Given the description of an element on the screen output the (x, y) to click on. 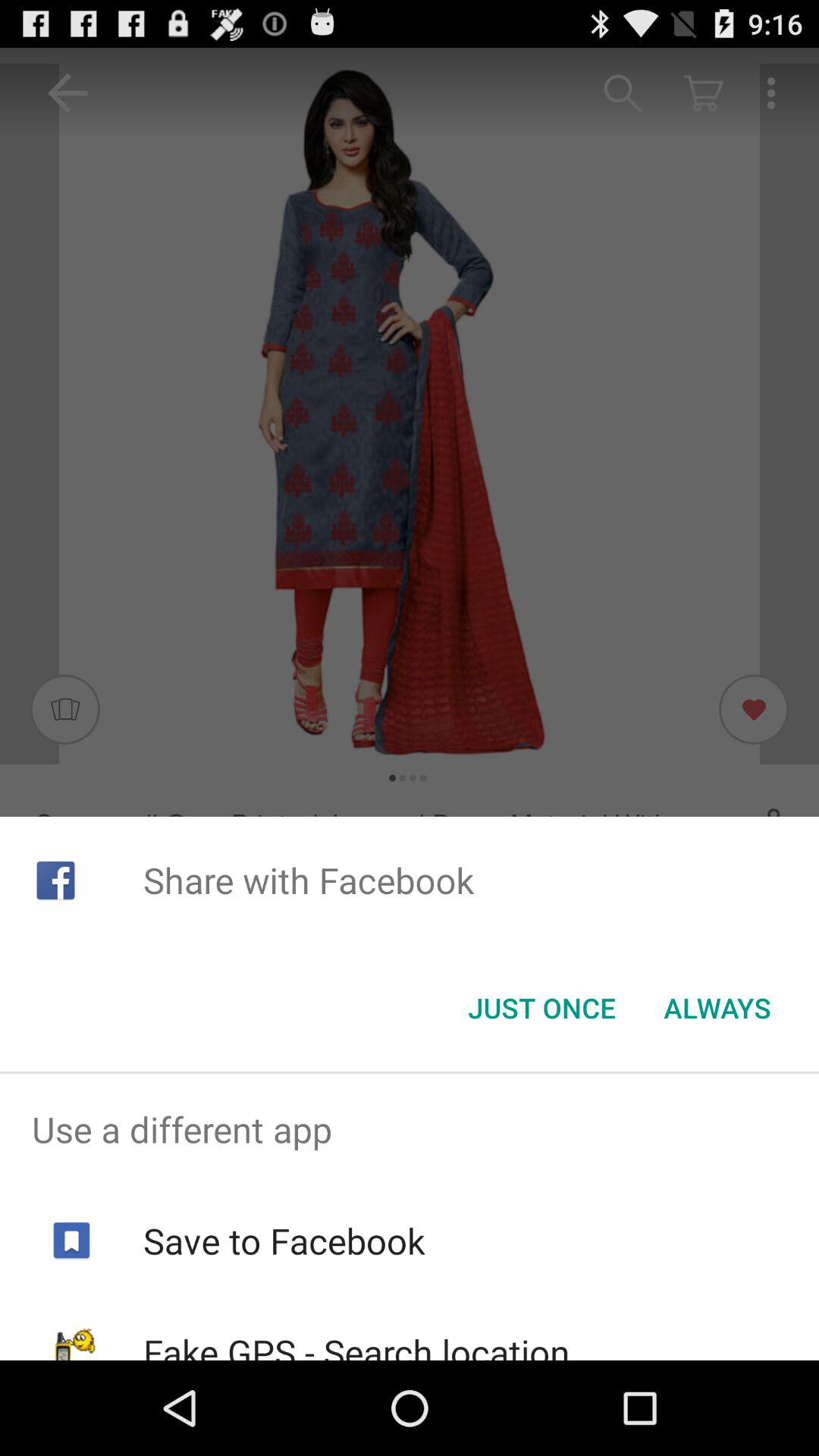
press the button to the left of always (541, 1007)
